Given the description of an element on the screen output the (x, y) to click on. 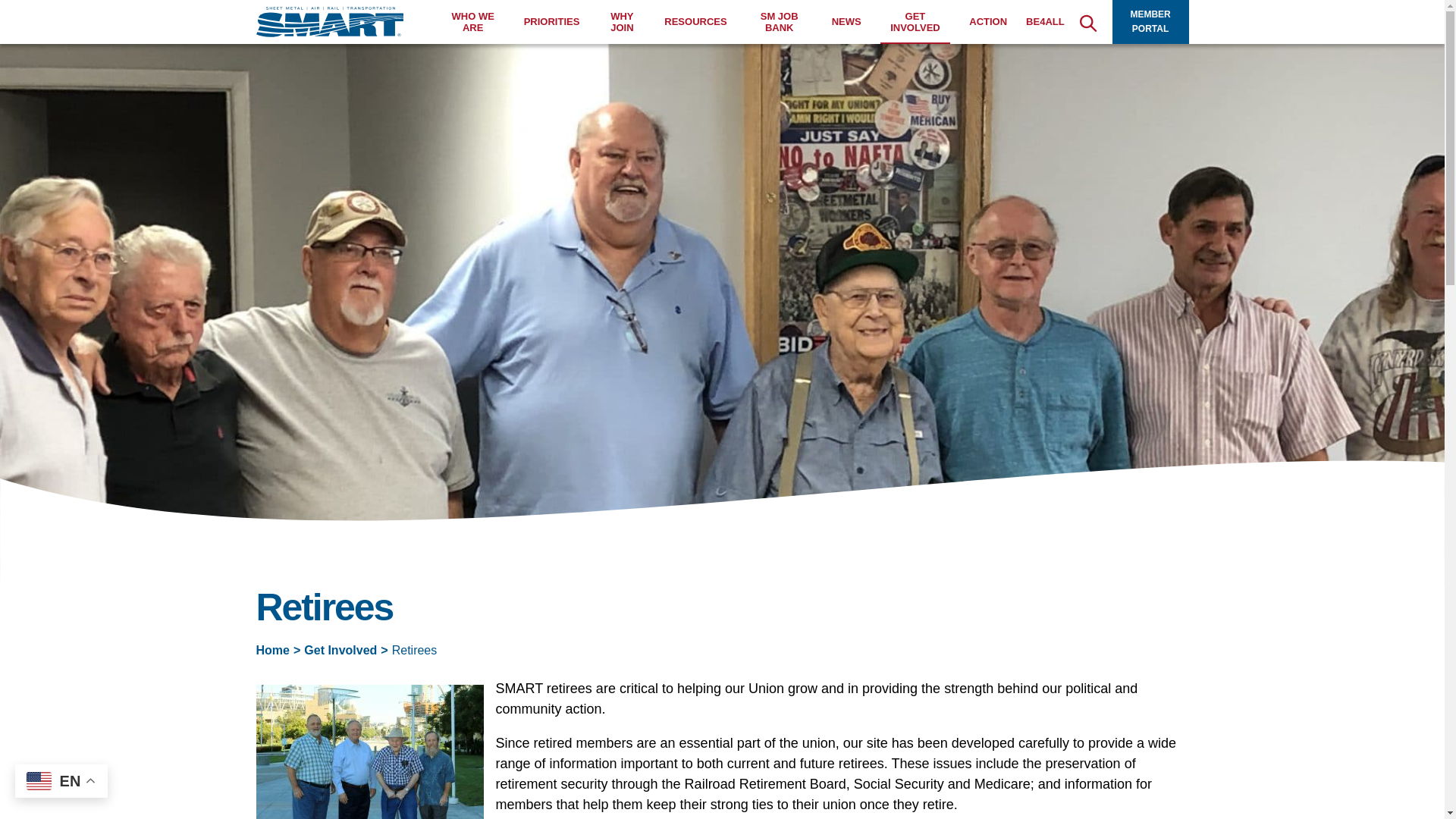
WHO WE ARE (473, 22)
PRIORITIES (551, 21)
WHY JOIN (621, 22)
Go to SMART Union. (272, 649)
Go to Get Involved. (340, 649)
